Given the description of an element on the screen output the (x, y) to click on. 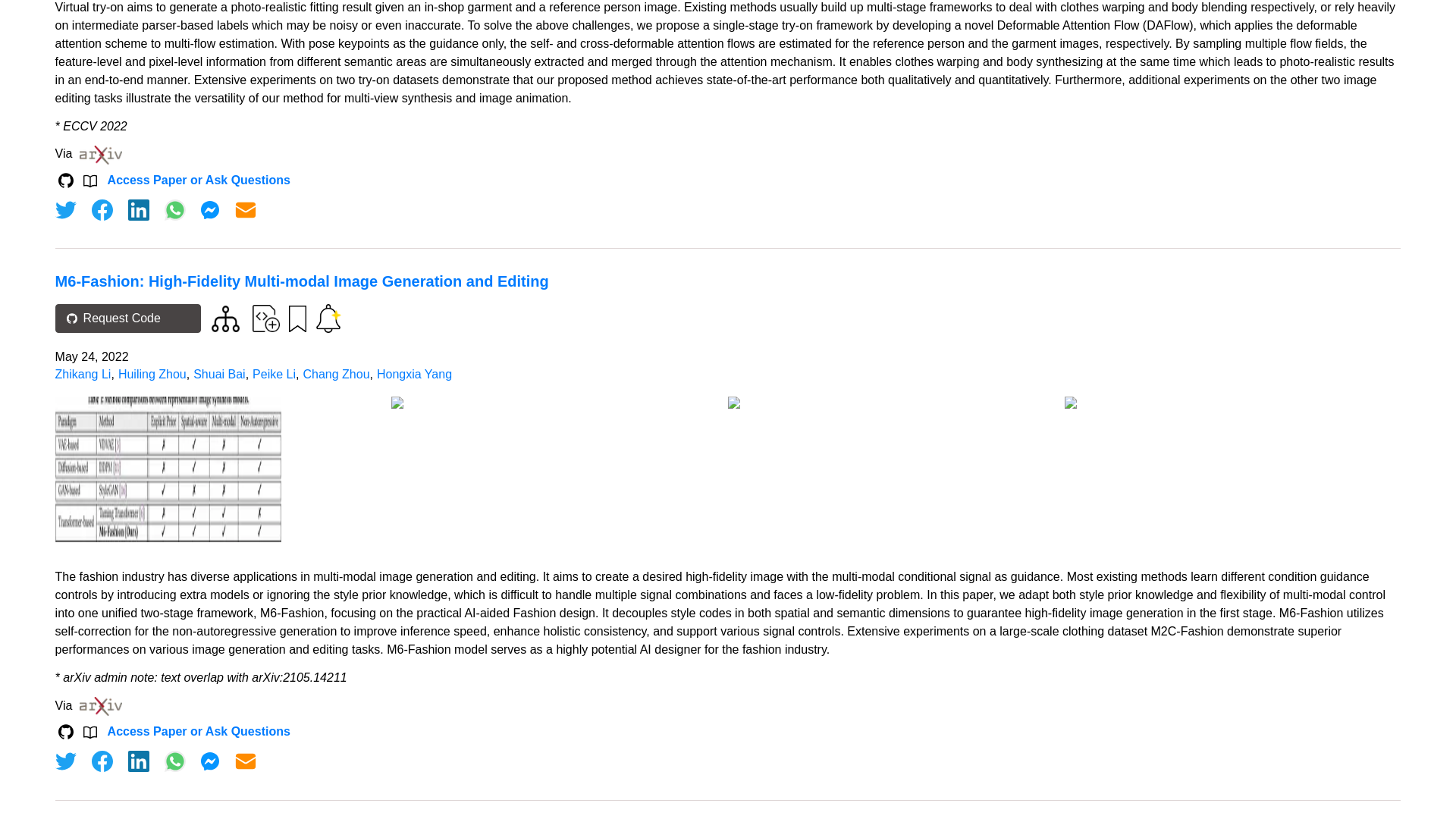
Share via Email (245, 210)
